Given the description of an element on the screen output the (x, y) to click on. 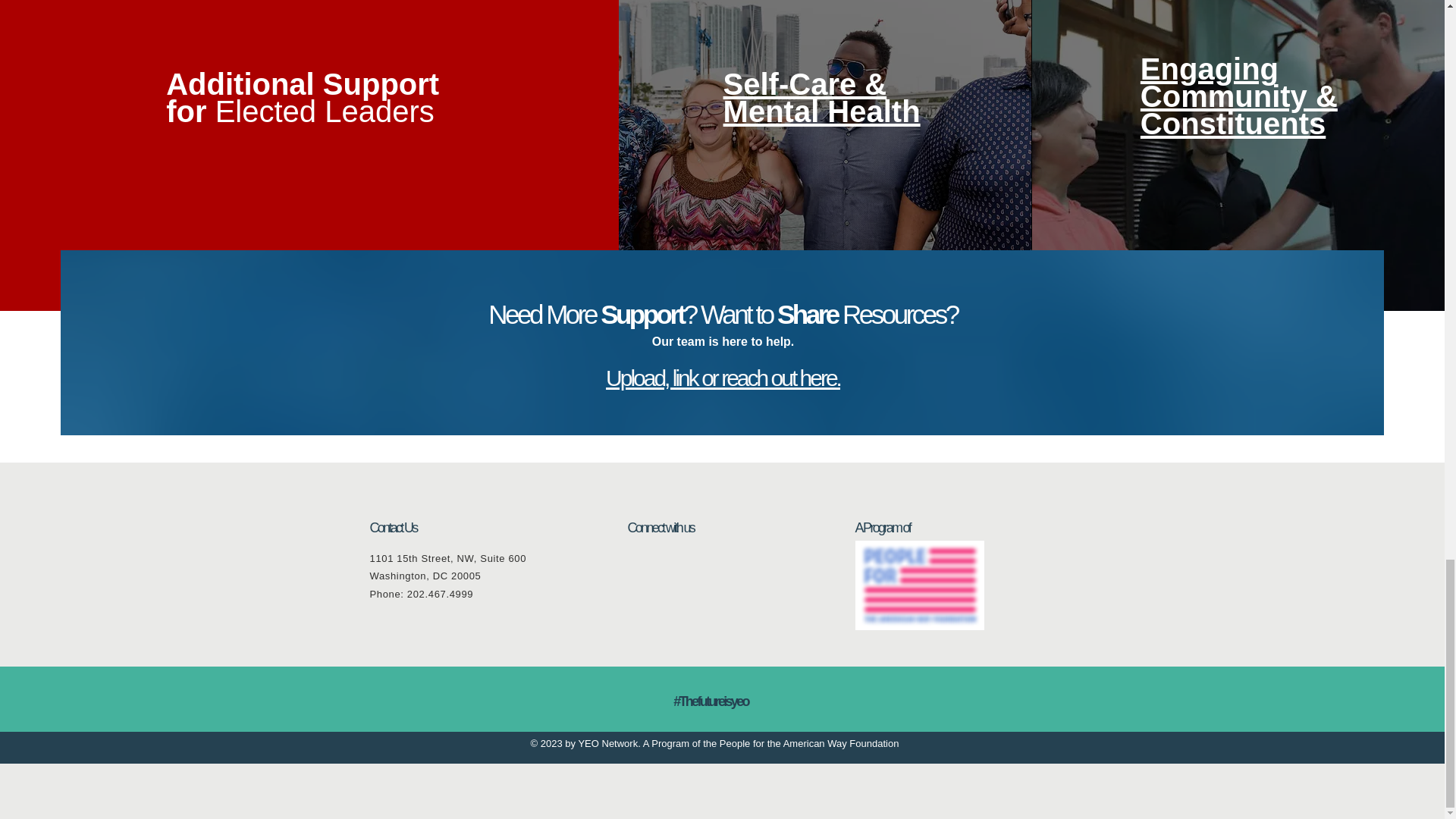
Upload, link or reach out here. (722, 377)
